Given the description of an element on the screen output the (x, y) to click on. 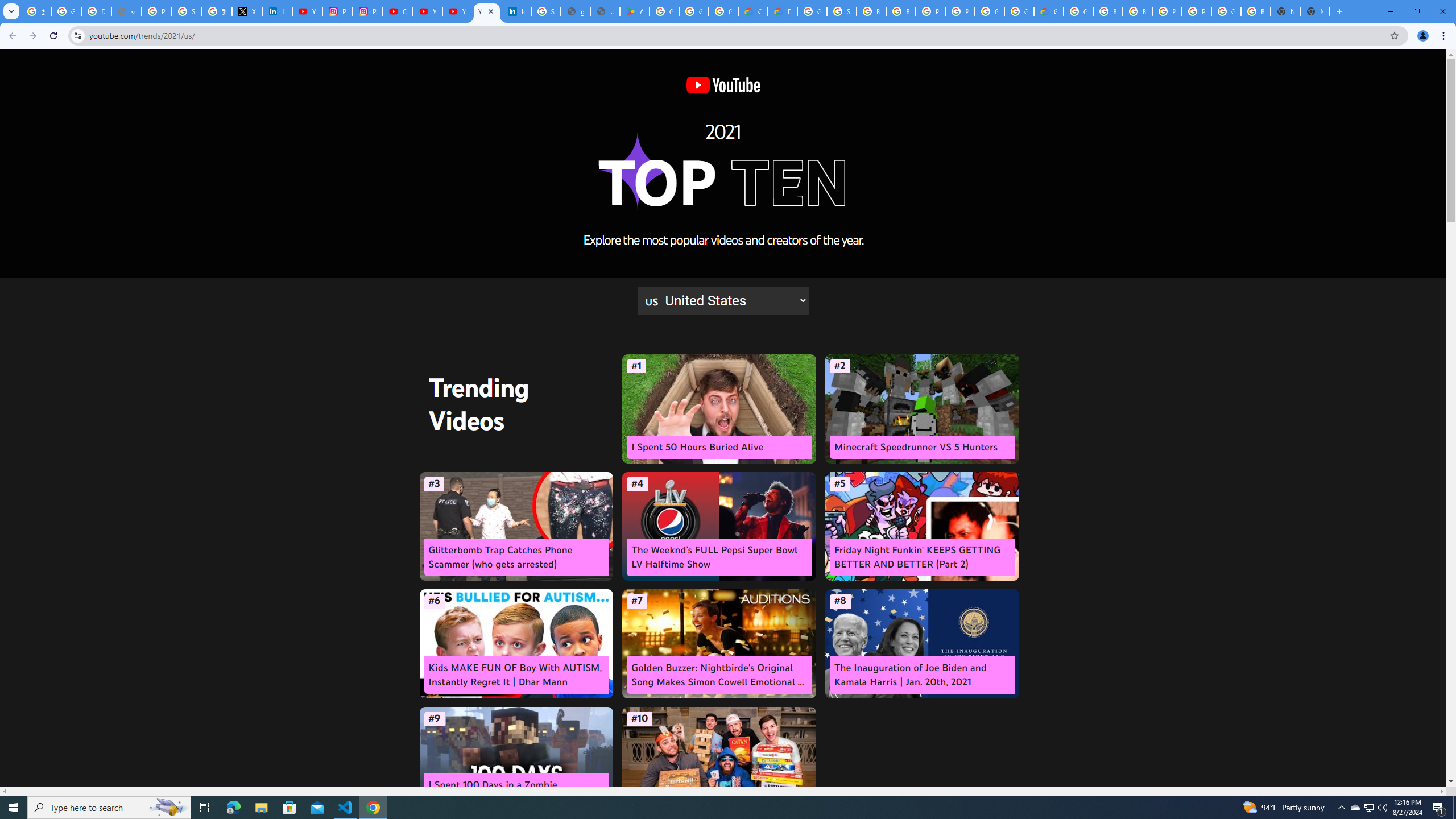
YouTube logo (722, 84)
support.google.com - Network error (126, 11)
YouTube Culture & Trends - YouTube Top 10, 2021 (486, 11)
#2 Minecraft Speedrunner VS 5 Hunters (921, 408)
LinkedIn Privacy Policy (277, 11)
